Given the description of an element on the screen output the (x, y) to click on. 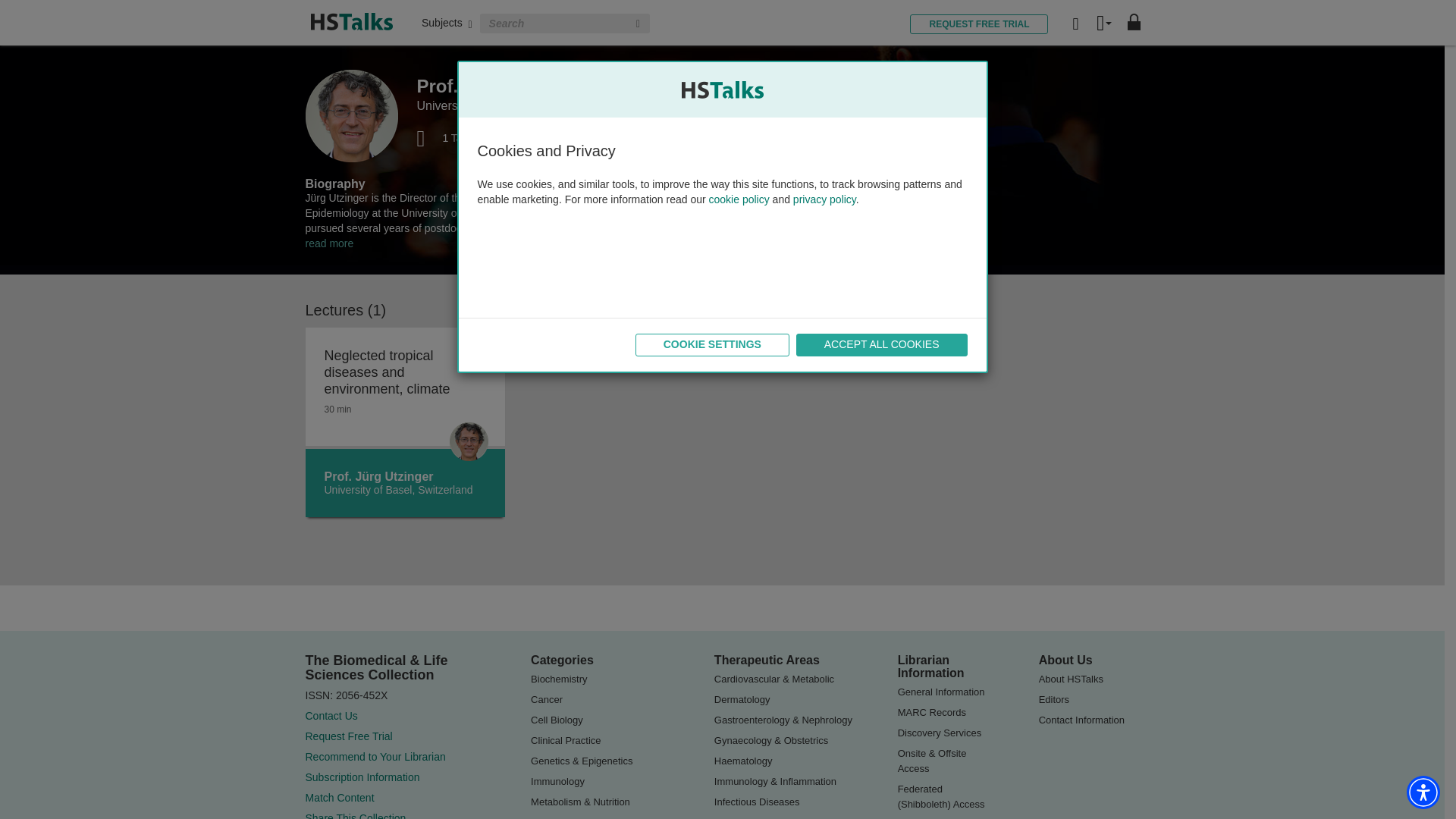
REQUEST FREE TRIAL (979, 24)
User (1104, 23)
Accessibility Menu (1422, 792)
Search (638, 23)
Subjects   (446, 22)
